Given the description of an element on the screen output the (x, y) to click on. 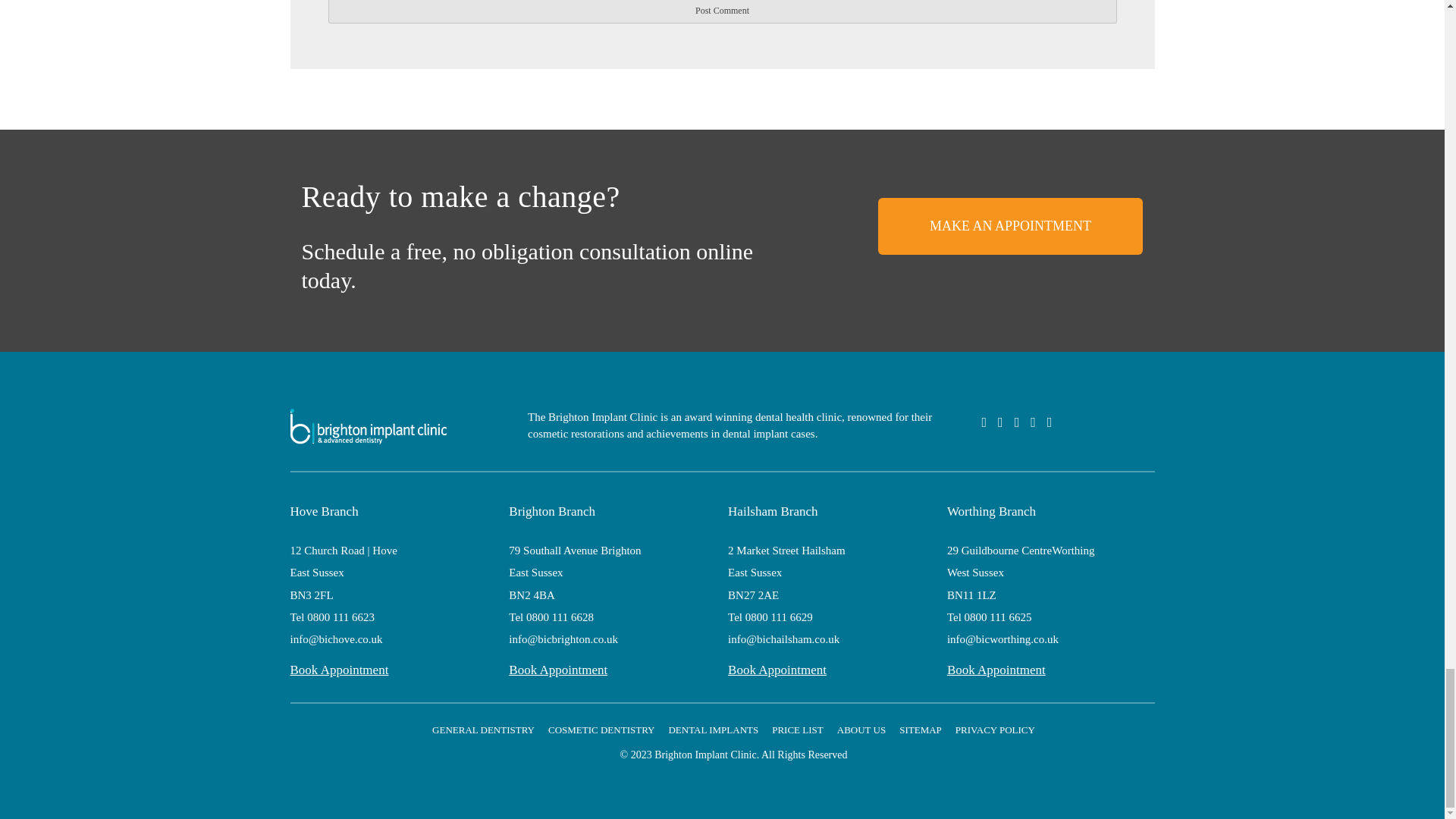
Post Comment (721, 11)
